Given the description of an element on the screen output the (x, y) to click on. 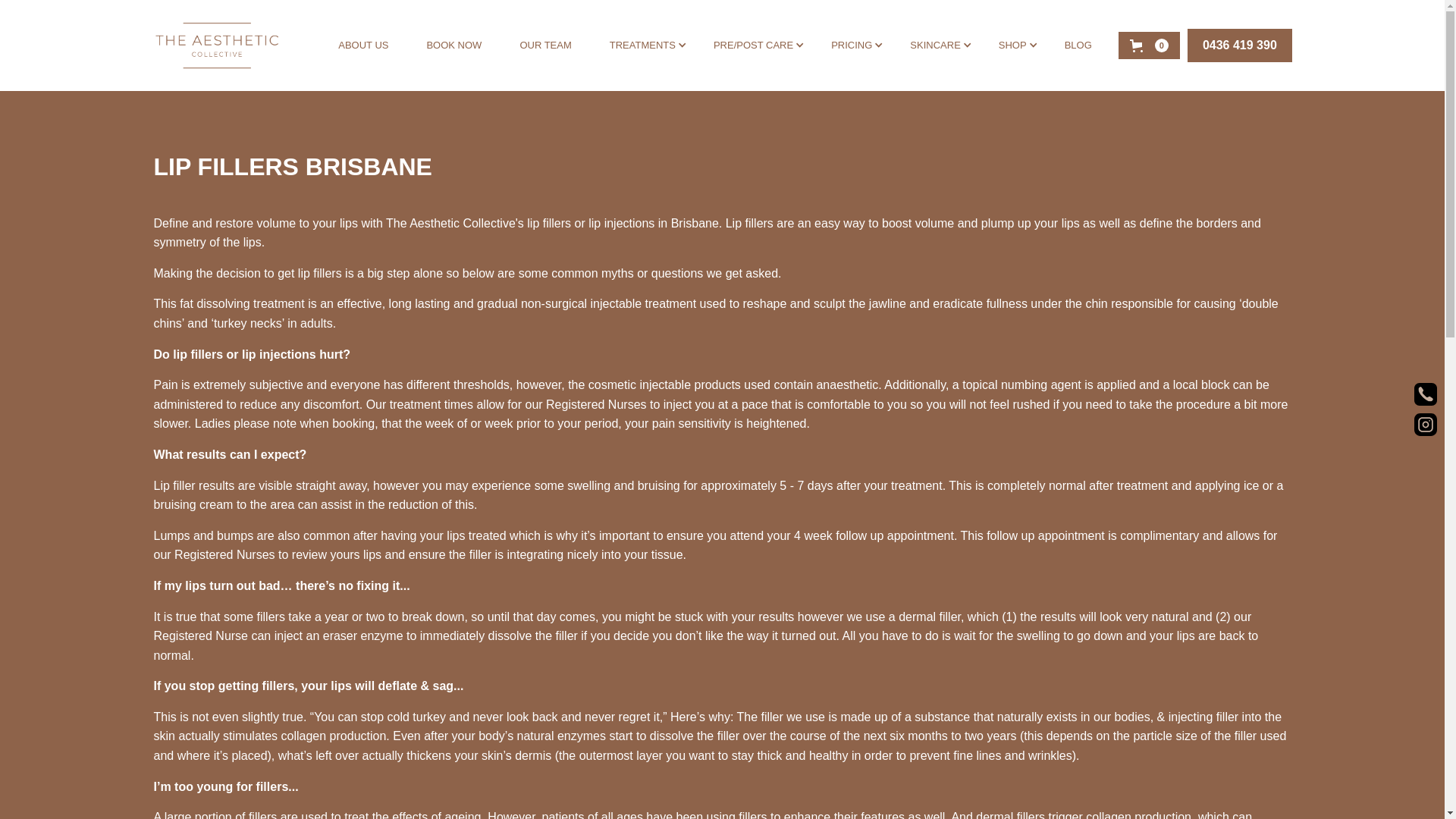
BLOG Element type: text (1085, 45)
SHOP Element type: text (1012, 44)
BOOK NOW Element type: text (461, 45)
OUR TEAM Element type: text (552, 45)
ABOUT US Element type: text (370, 45)
0 Element type: text (1148, 45)
0436 419 390 Element type: text (1239, 45)
